Given the description of an element on the screen output the (x, y) to click on. 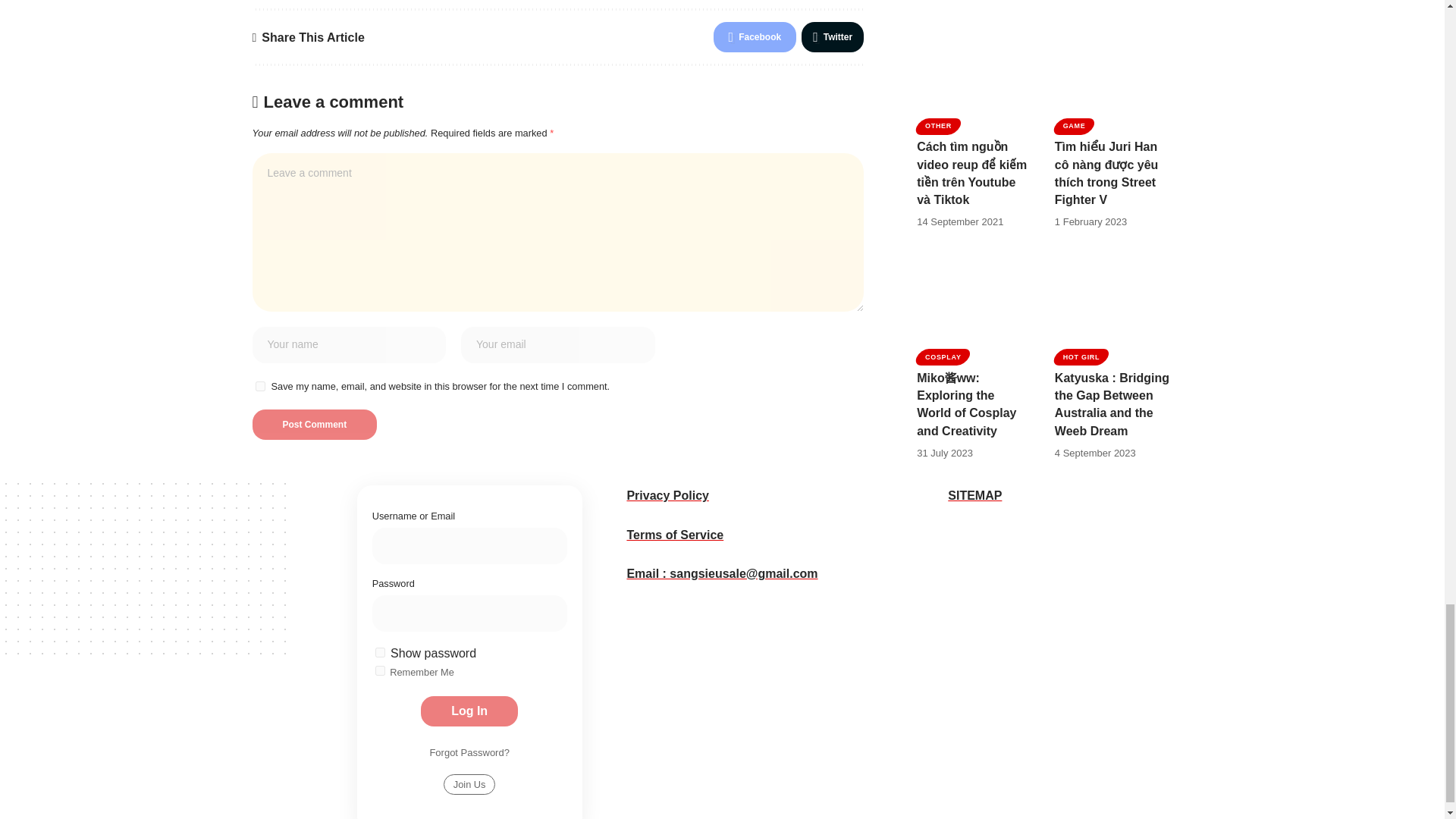
Log In (469, 711)
on (380, 670)
yes (259, 386)
on (380, 652)
Post Comment (314, 424)
